Given the description of an element on the screen output the (x, y) to click on. 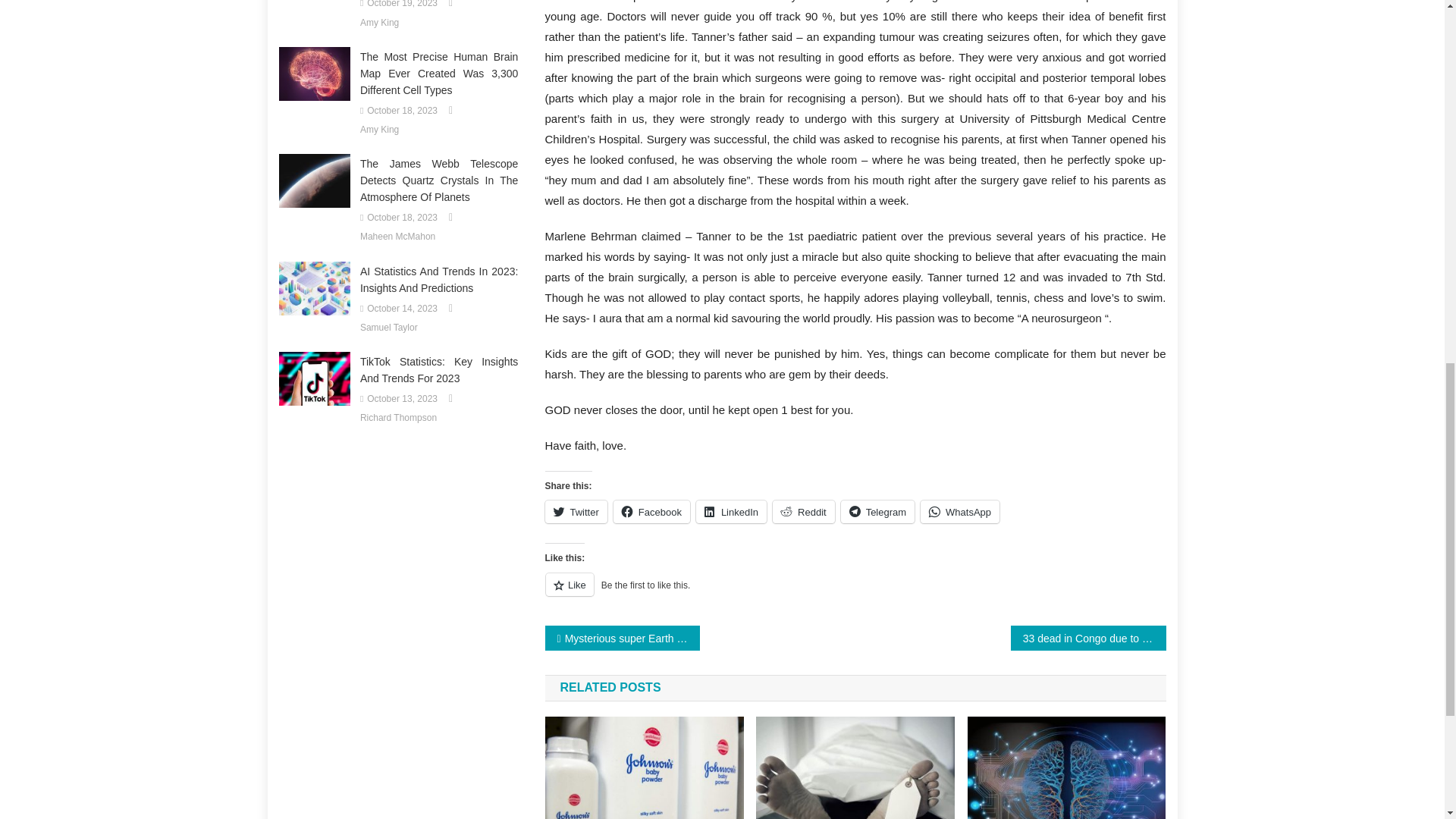
WhatsApp (959, 511)
33 dead in Congo due to Ebola (1088, 637)
Telegram (877, 511)
Mysterious super Earth planet to host life, but huge problem (622, 637)
Click to share on Reddit (803, 511)
Click to share on LinkedIn (731, 511)
Click to share on WhatsApp (959, 511)
Click to share on Facebook (651, 511)
Like or Reblog (855, 593)
Reddit (803, 511)
